Given the description of an element on the screen output the (x, y) to click on. 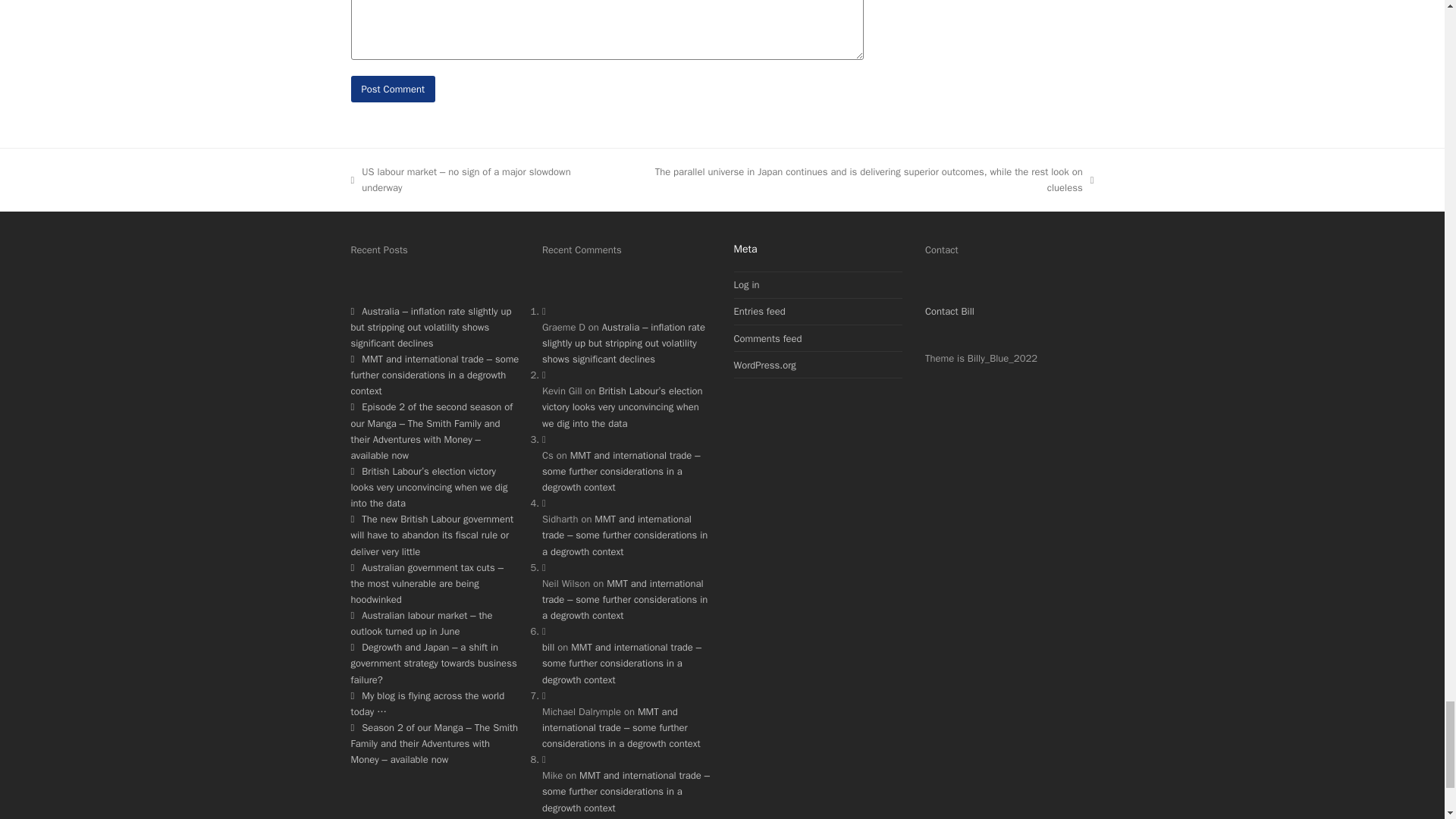
Post Comment (392, 89)
